Given the description of an element on the screen output the (x, y) to click on. 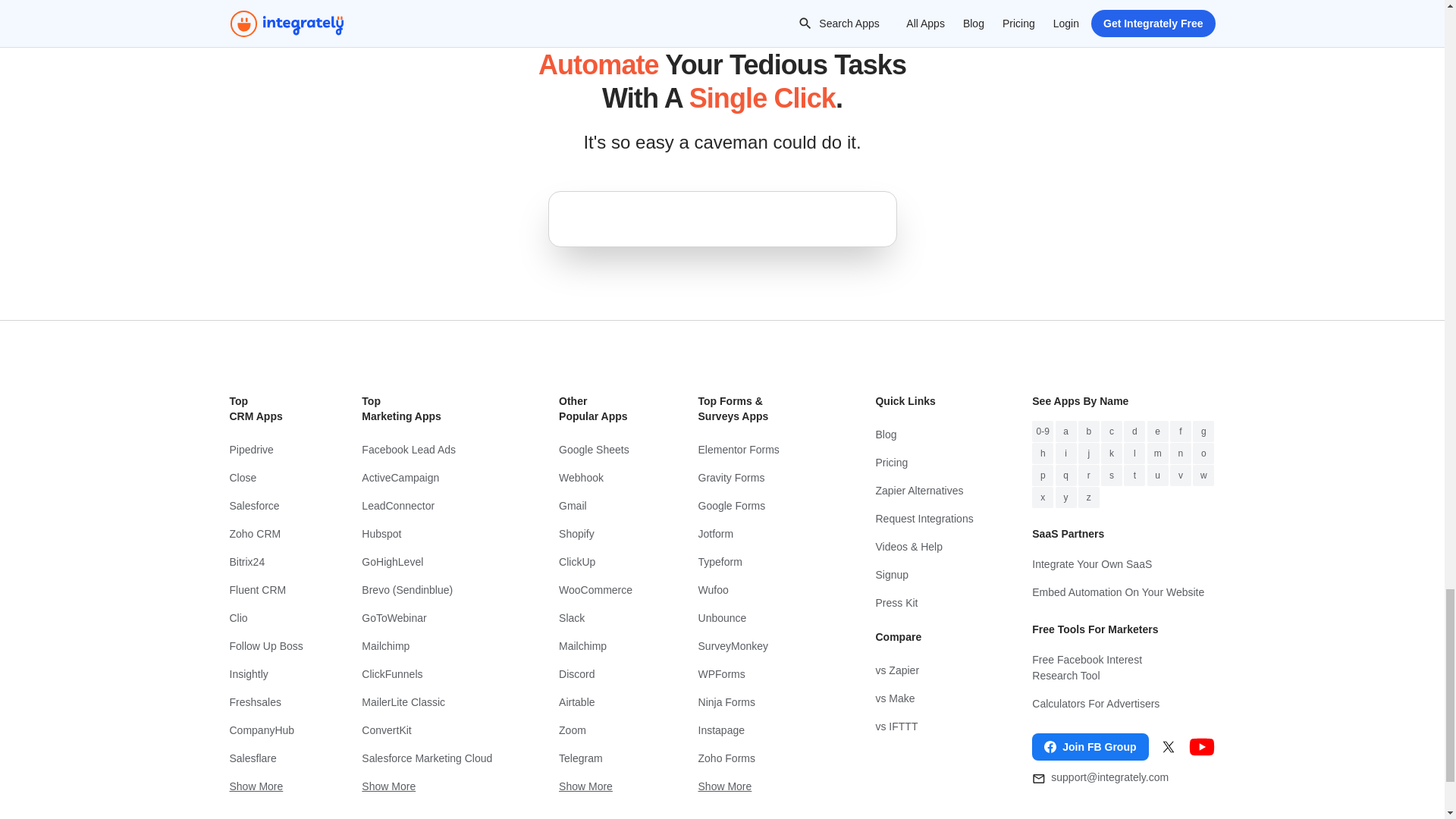
ClickFunnels (430, 674)
Salesforce (265, 506)
Clio (265, 618)
Integrately Twitter (1167, 746)
Mailchimp (430, 646)
Zoho CRM (265, 533)
Salesflare (265, 758)
GoToWebinar (430, 618)
LeadConnector (430, 506)
Insightly (265, 674)
